Given the description of an element on the screen output the (x, y) to click on. 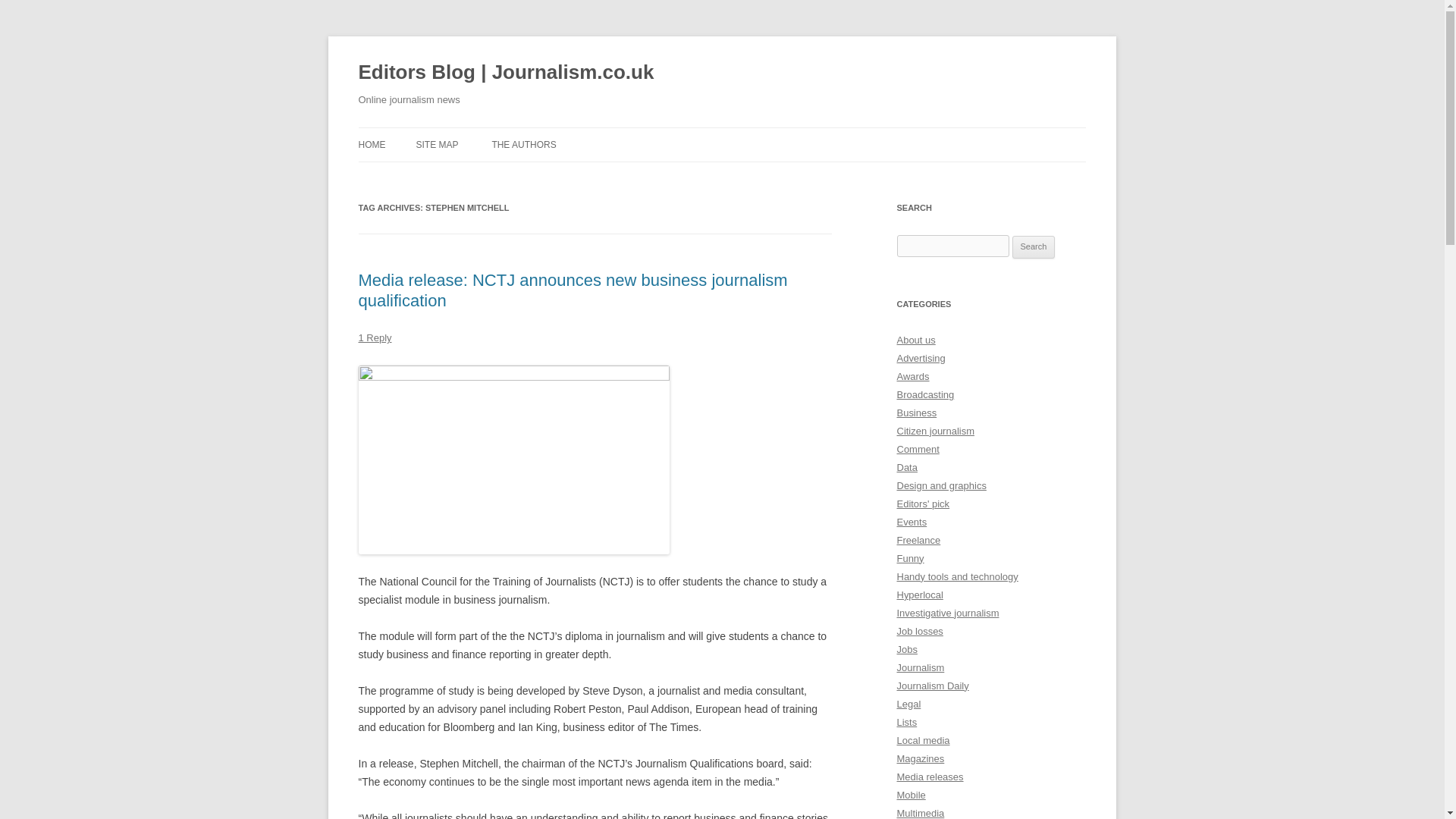
NCTJ (513, 459)
SITE MAP (436, 144)
THE AUTHORS (524, 144)
Search (1033, 246)
1 Reply (374, 337)
